Given the description of an element on the screen output the (x, y) to click on. 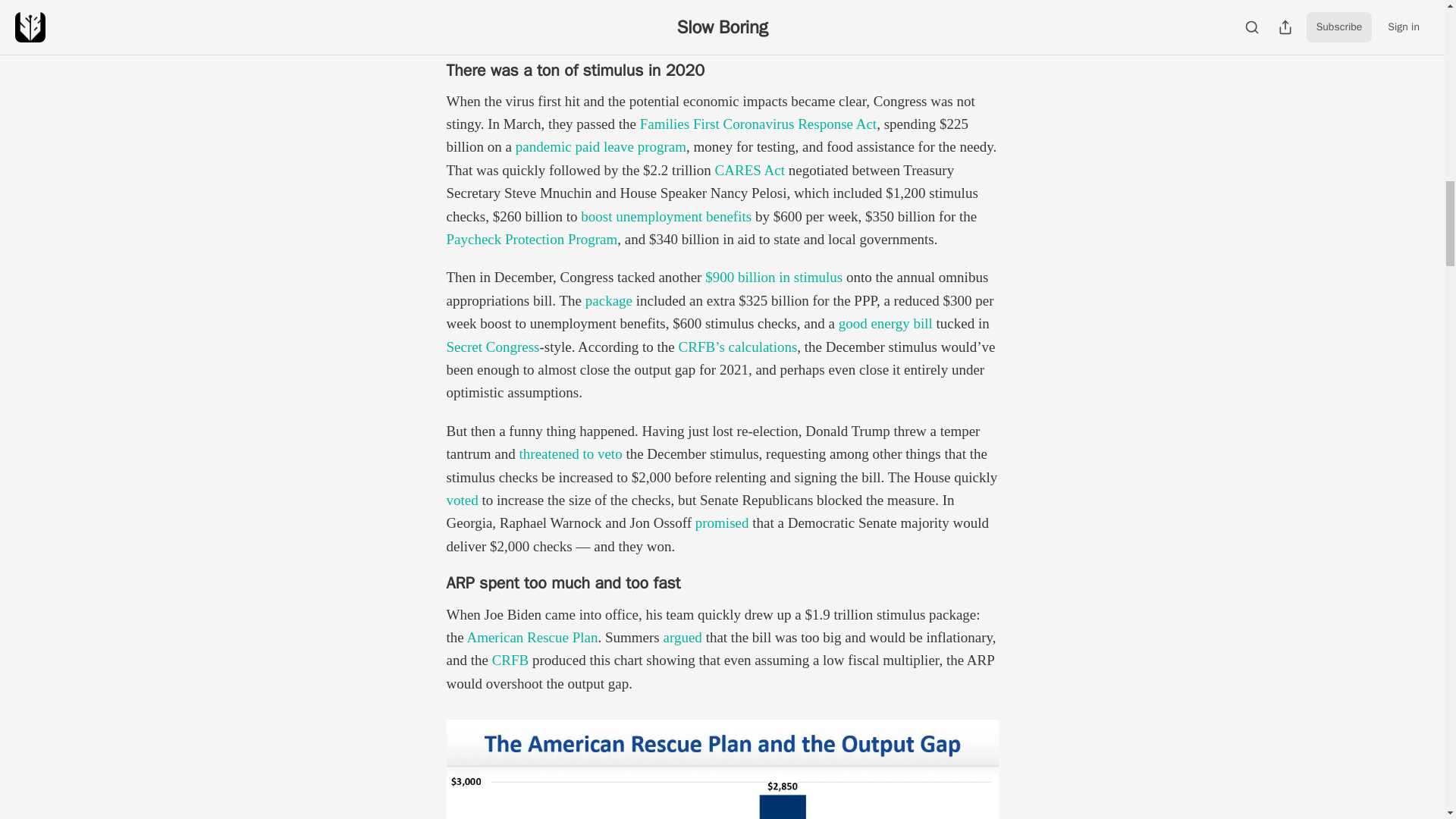
Families First Coronavirus Response Act (758, 123)
CARES Act (749, 170)
pandemic paid leave program (600, 146)
